Given the description of an element on the screen output the (x, y) to click on. 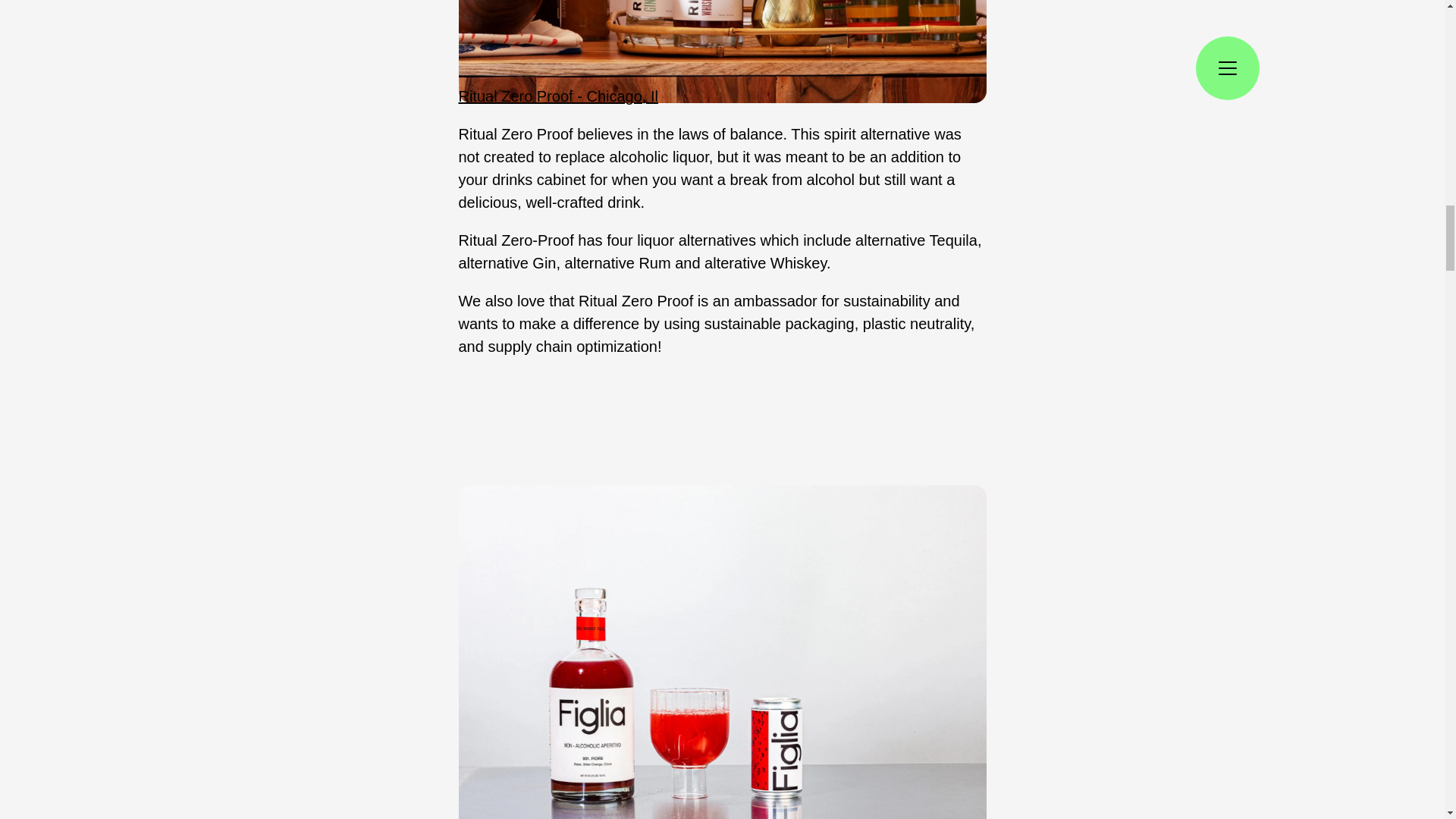
Ritual Zero Proof - Chicago, Il (558, 95)
